Given the description of an element on the screen output the (x, y) to click on. 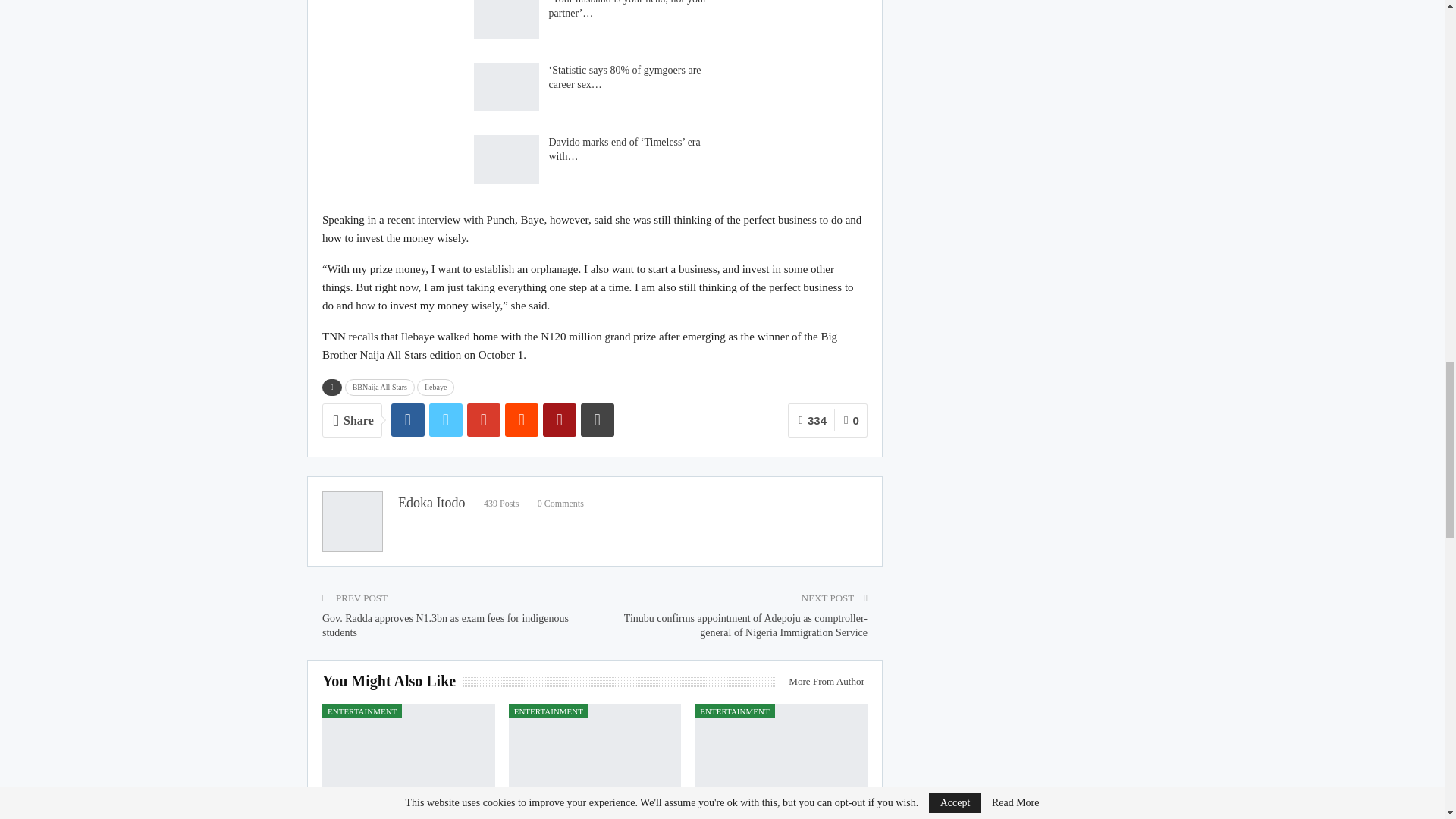
BBNaija All Stars (379, 387)
0 (850, 420)
Ilebaye (435, 387)
